Given the description of an element on the screen output the (x, y) to click on. 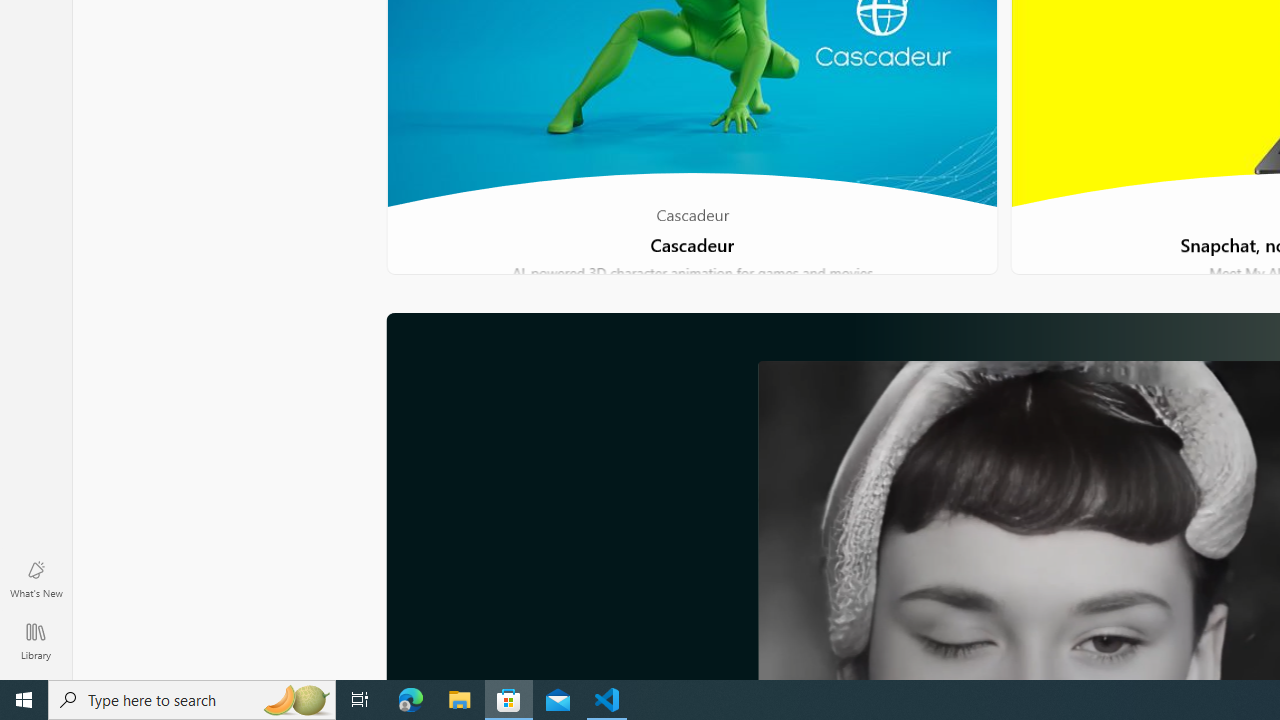
Library (35, 640)
What's New (35, 578)
